Given the description of an element on the screen output the (x, y) to click on. 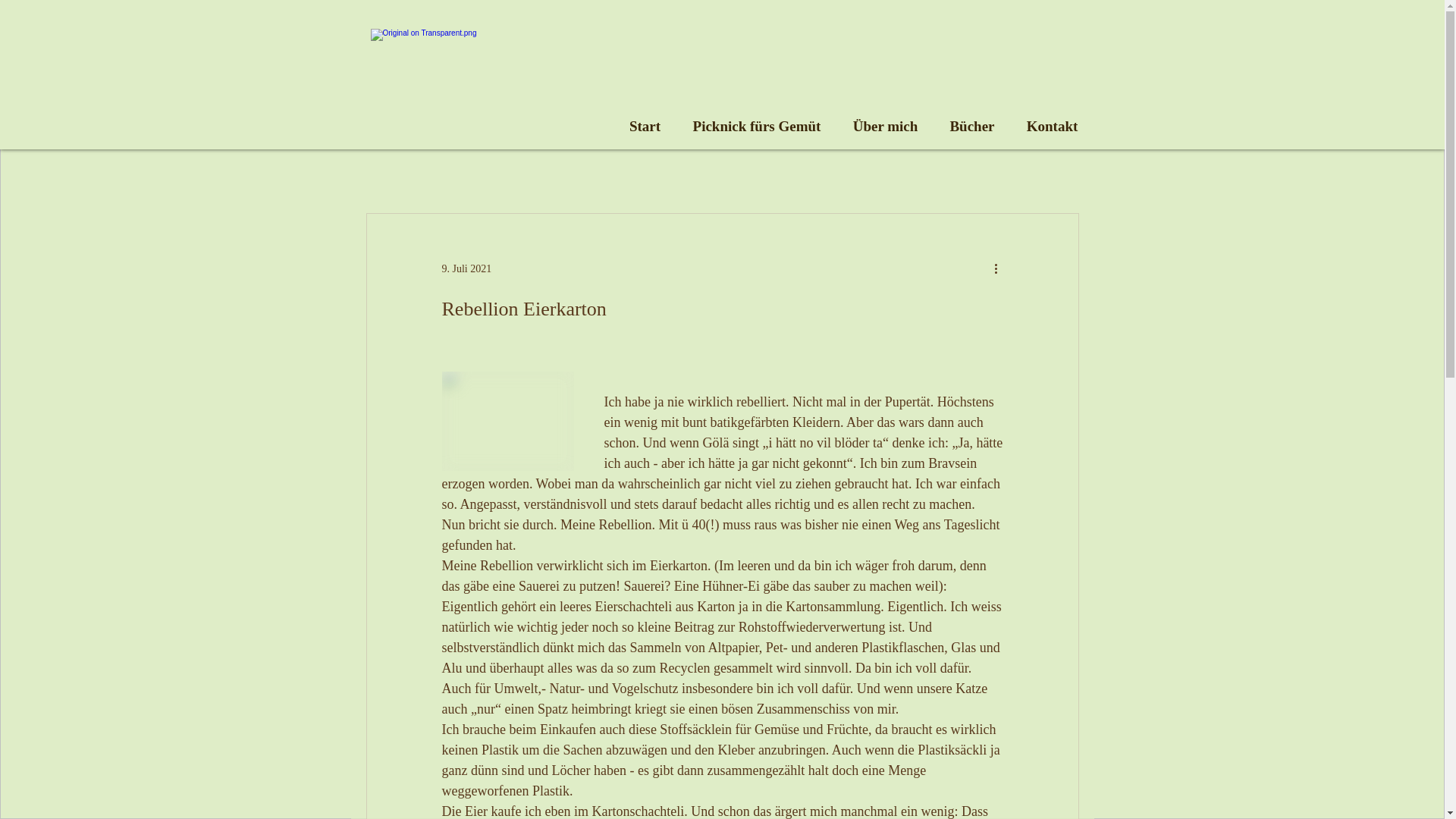
Start Element type: text (644, 126)
Kontakt Element type: text (1051, 126)
